Given the description of an element on the screen output the (x, y) to click on. 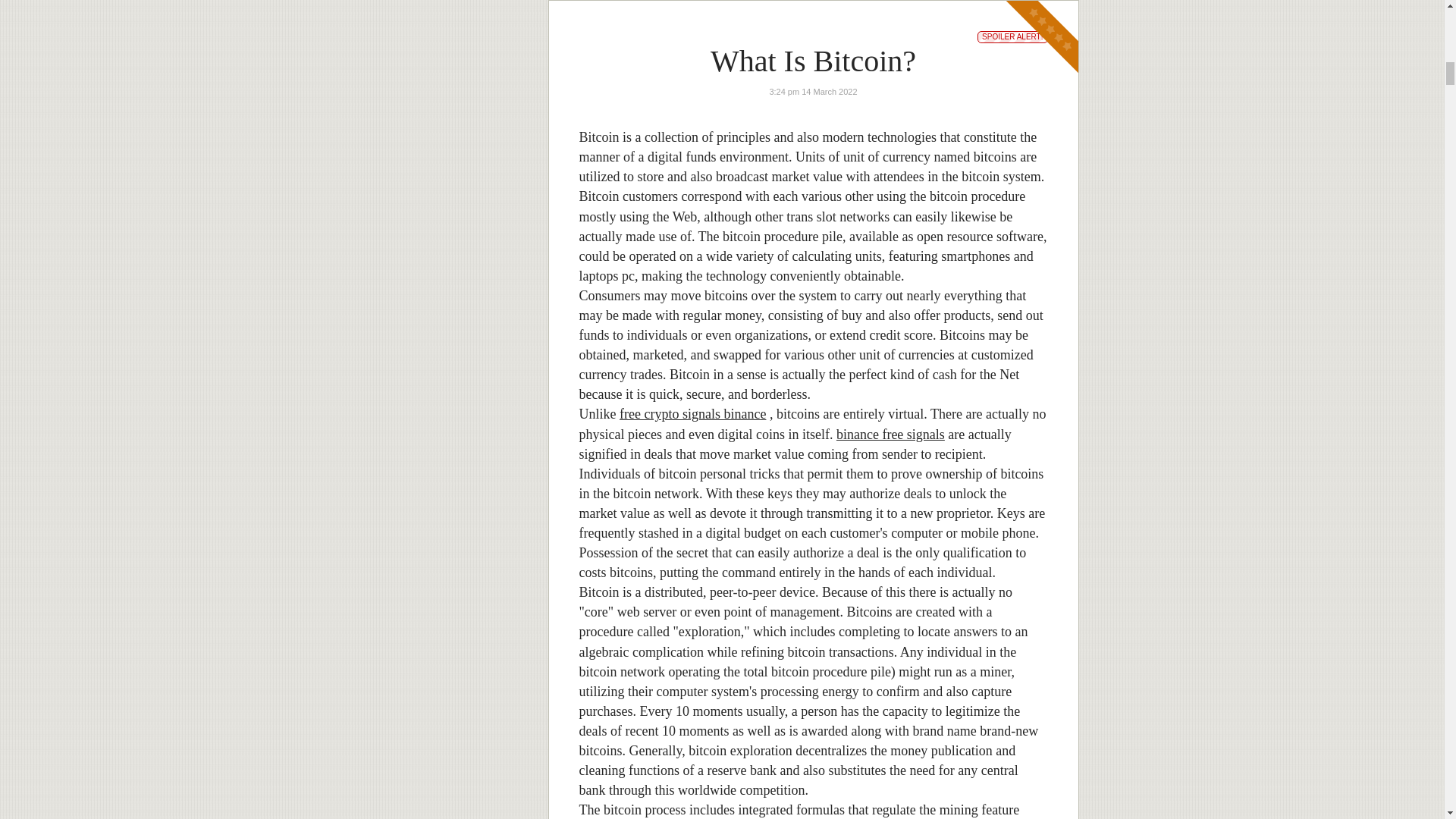
What Is Bitcoin? (812, 60)
free crypto signals binance (692, 413)
3:24 pm 14 March 2022 (812, 91)
binance free signals (889, 434)
